Given the description of an element on the screen output the (x, y) to click on. 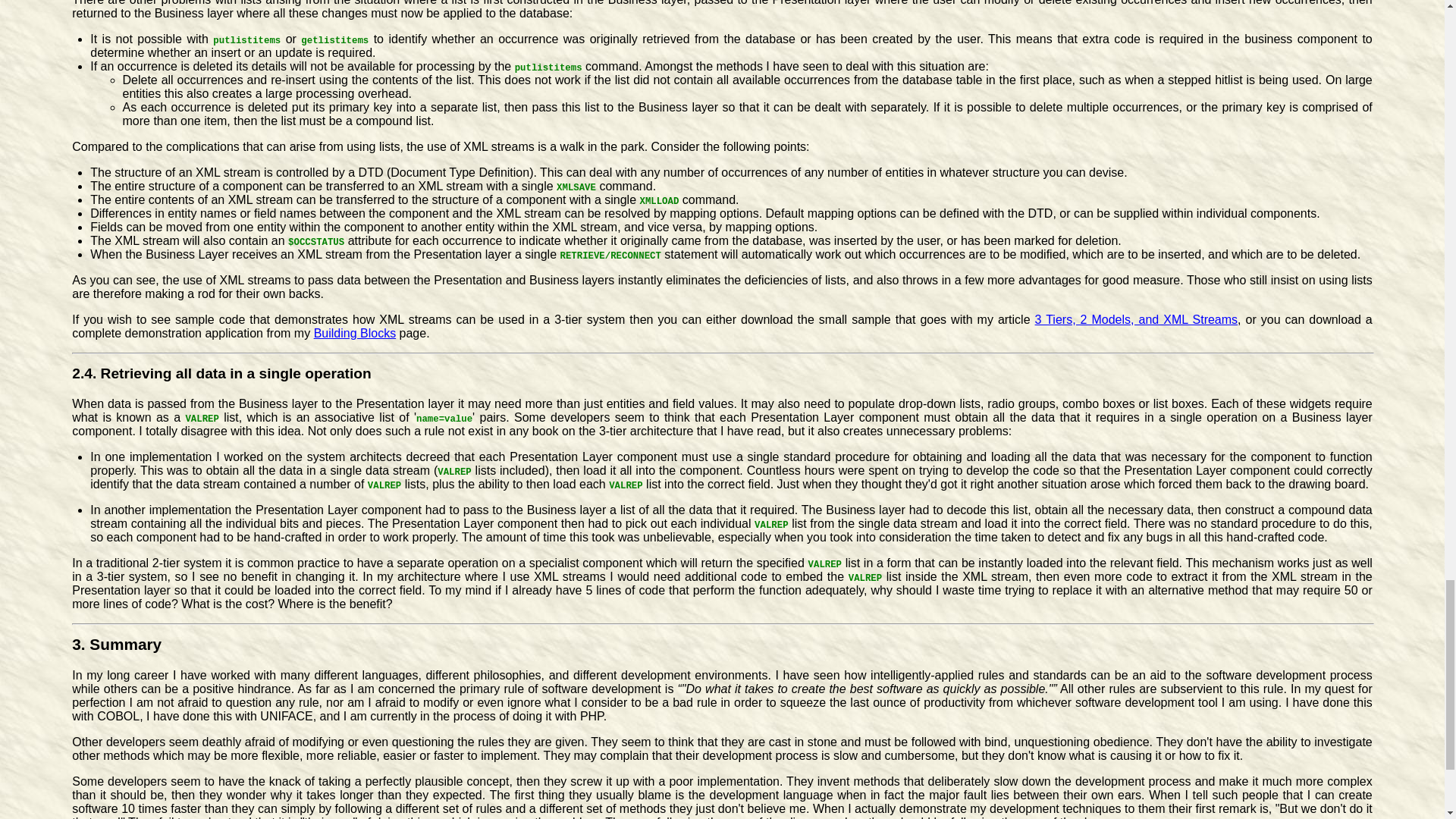
Building Blocks (355, 332)
2.4. Retrieving all data in a single operation (221, 373)
3. Summary (116, 643)
3 Tiers, 2 Models, and XML Streams (1137, 318)
